Given the description of an element on the screen output the (x, y) to click on. 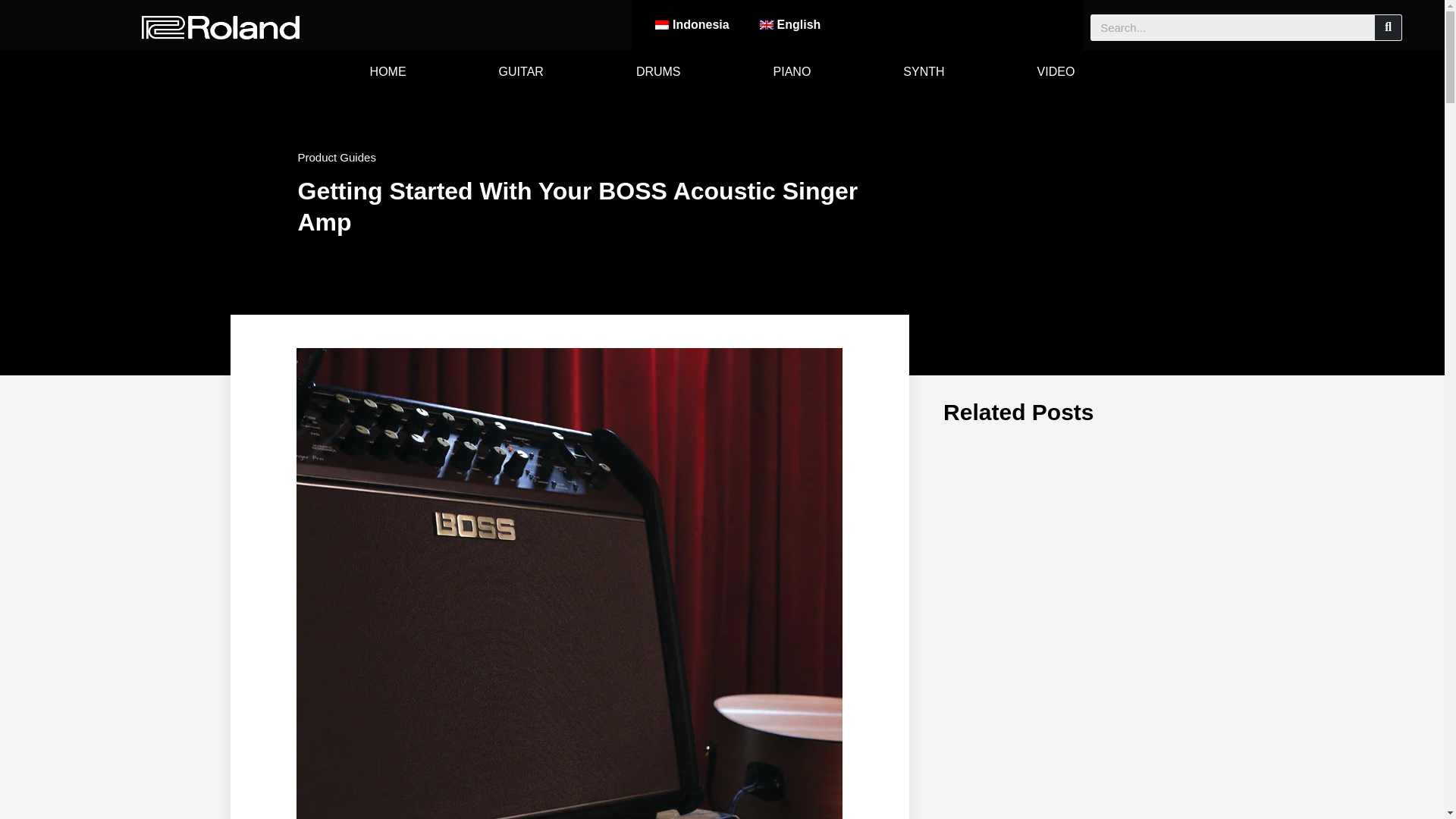
English (789, 24)
Search (1387, 27)
GUITAR (520, 71)
HOME (387, 71)
DRUMS (657, 71)
Indonesia (692, 24)
Indonesia (692, 24)
English (789, 24)
PIANO (792, 71)
